Given the description of an element on the screen output the (x, y) to click on. 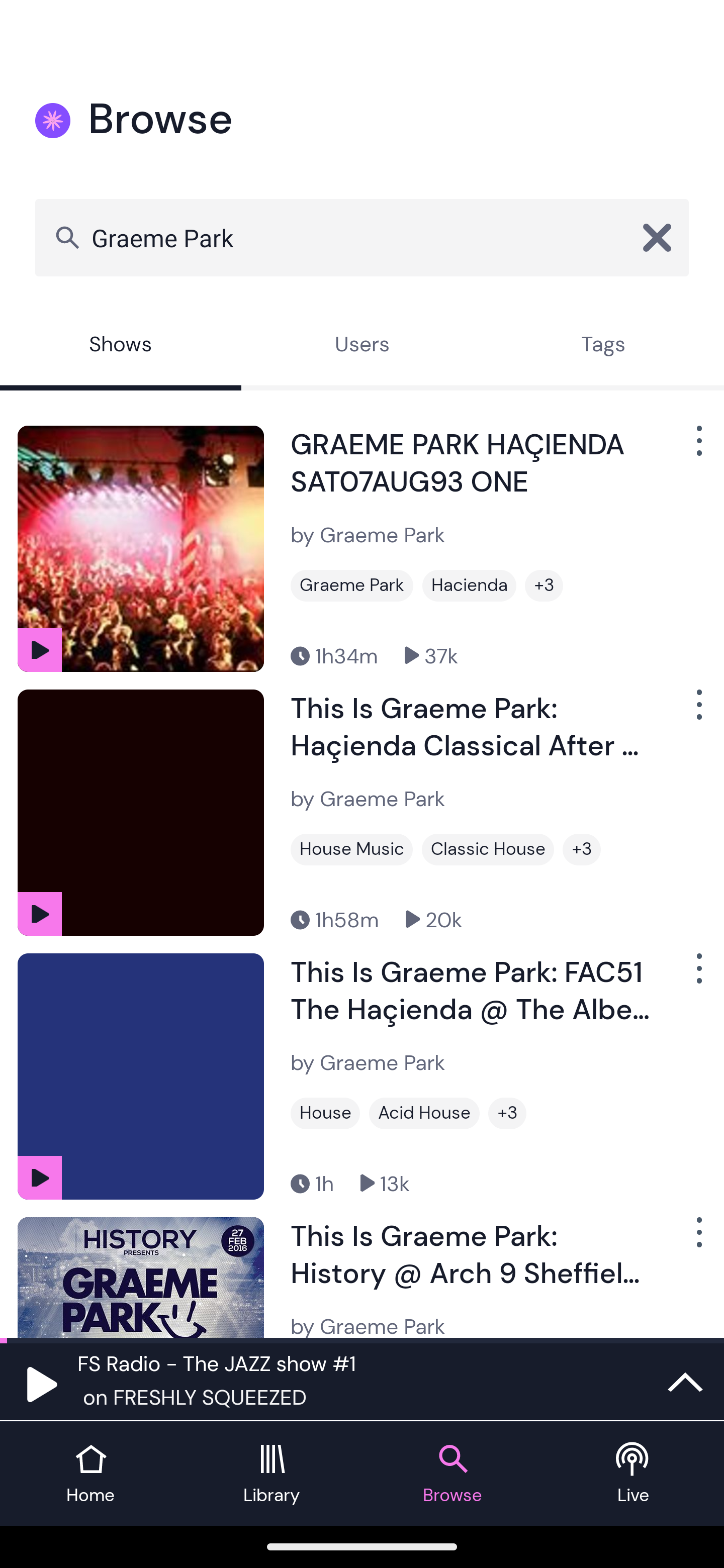
Graeme Park (361, 237)
Shows (120, 346)
Users (361, 346)
Tags (603, 346)
Show Options Menu Button (697, 447)
Graeme Park (351, 585)
Hacienda (469, 585)
Show Options Menu Button (697, 712)
House Music (351, 849)
Classic House (487, 849)
Show Options Menu Button (697, 975)
House (324, 1112)
Acid House (424, 1112)
Show Options Menu Button (697, 1239)
Home tab Home (90, 1473)
Library tab Library (271, 1473)
Browse tab Browse (452, 1473)
Live tab Live (633, 1473)
